Given the description of an element on the screen output the (x, y) to click on. 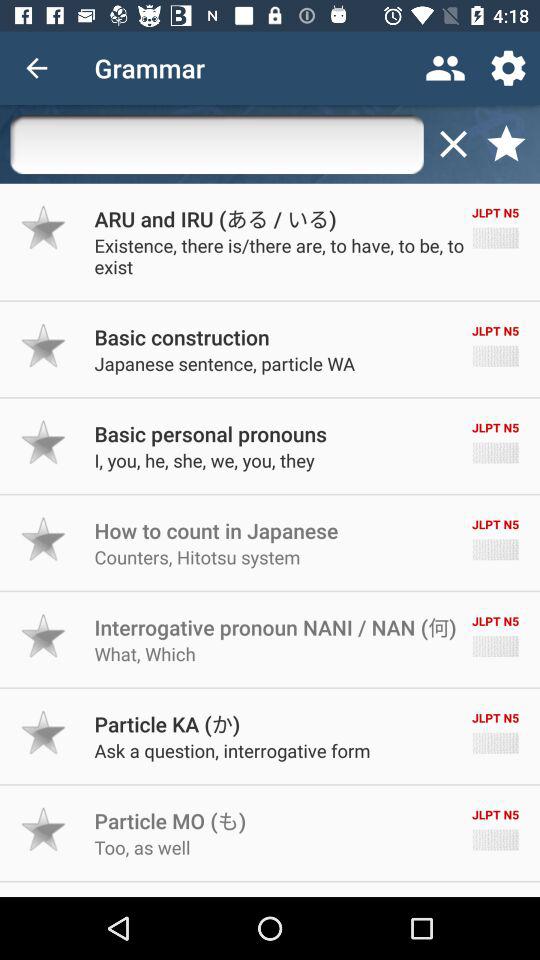
turn on the icon to the left of the jlpt n5 (167, 723)
